Given the description of an element on the screen output the (x, y) to click on. 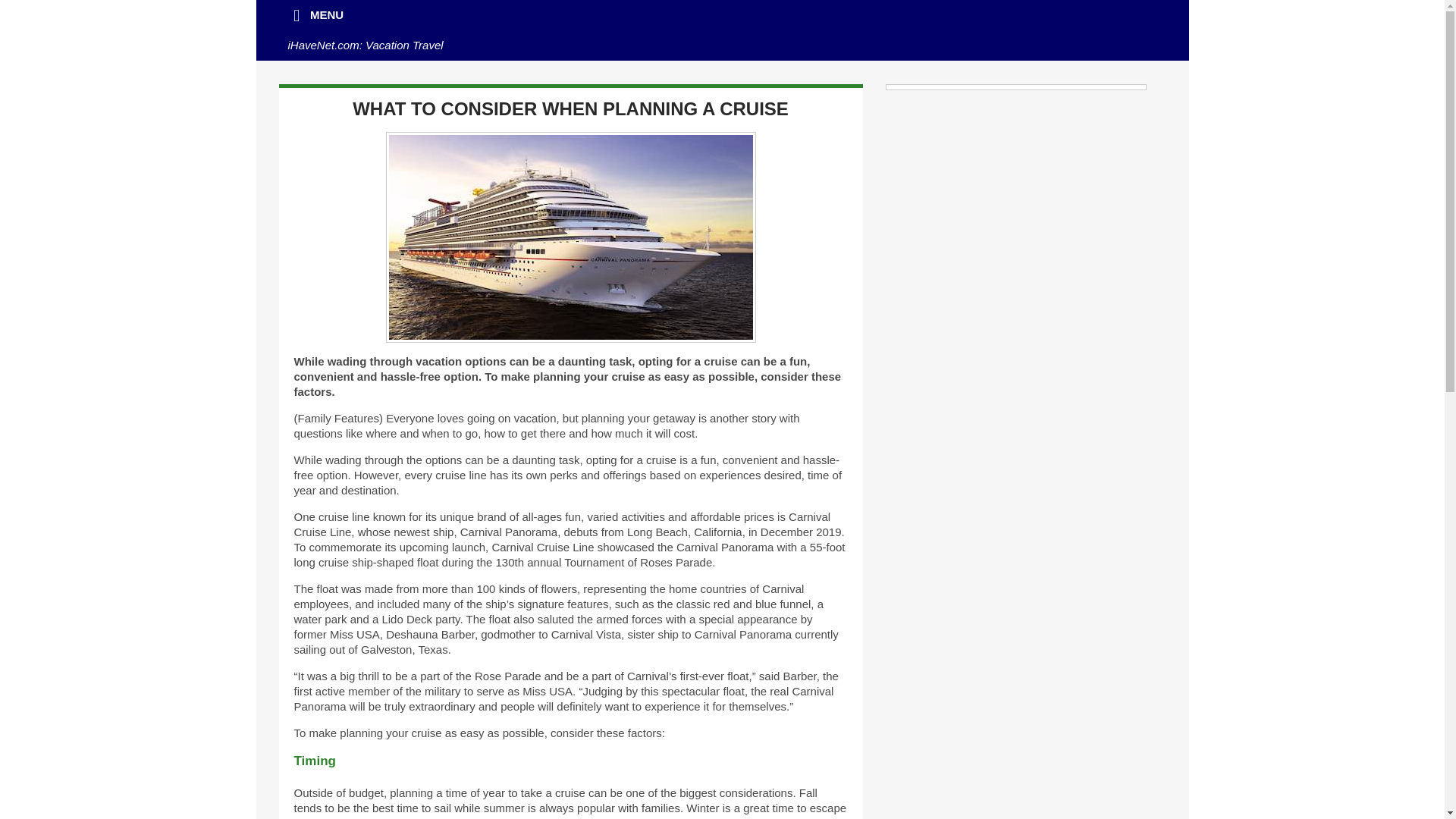
MENU (316, 15)
